Given the description of an element on the screen output the (x, y) to click on. 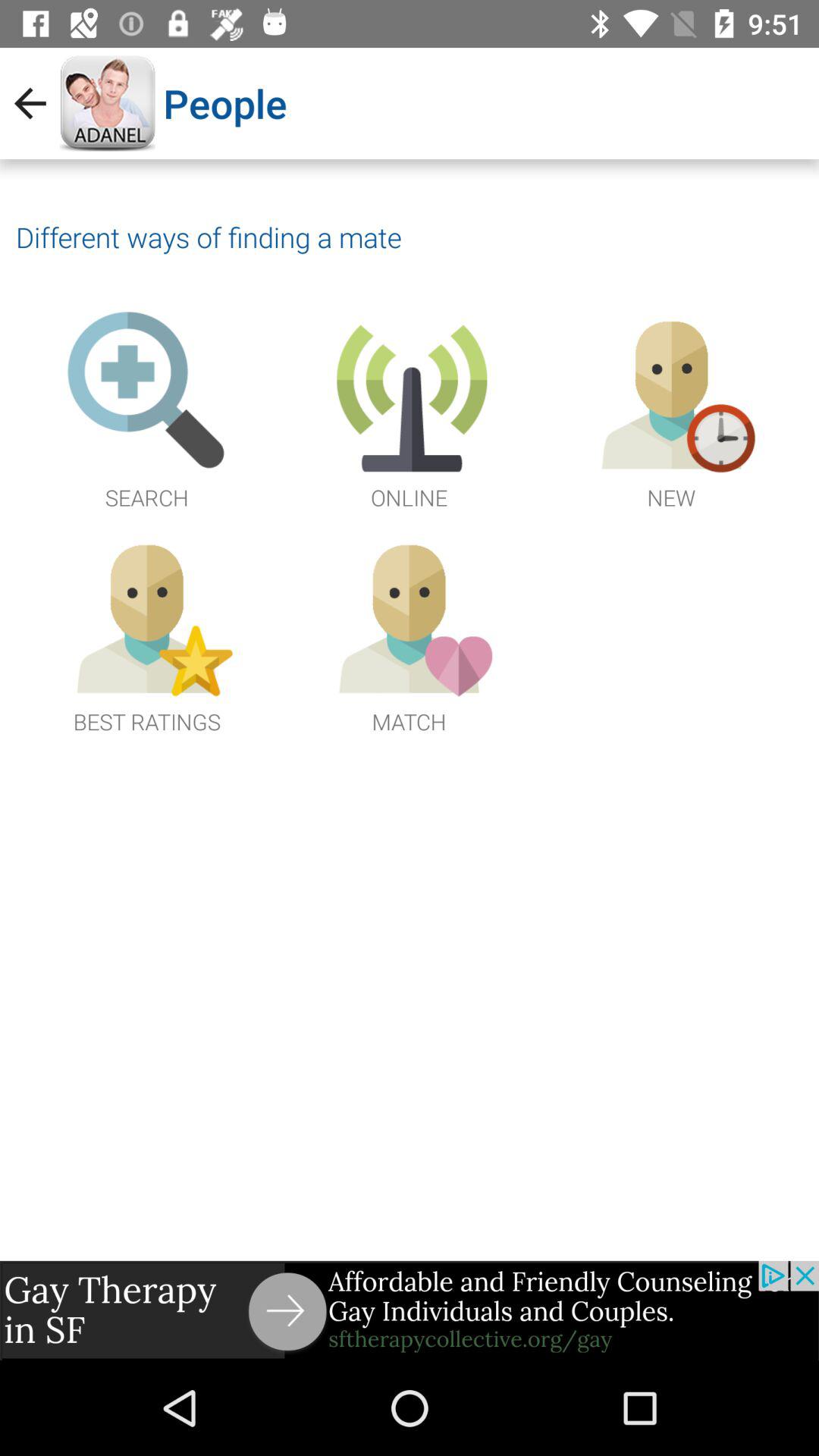
match (409, 634)
